Given the description of an element on the screen output the (x, y) to click on. 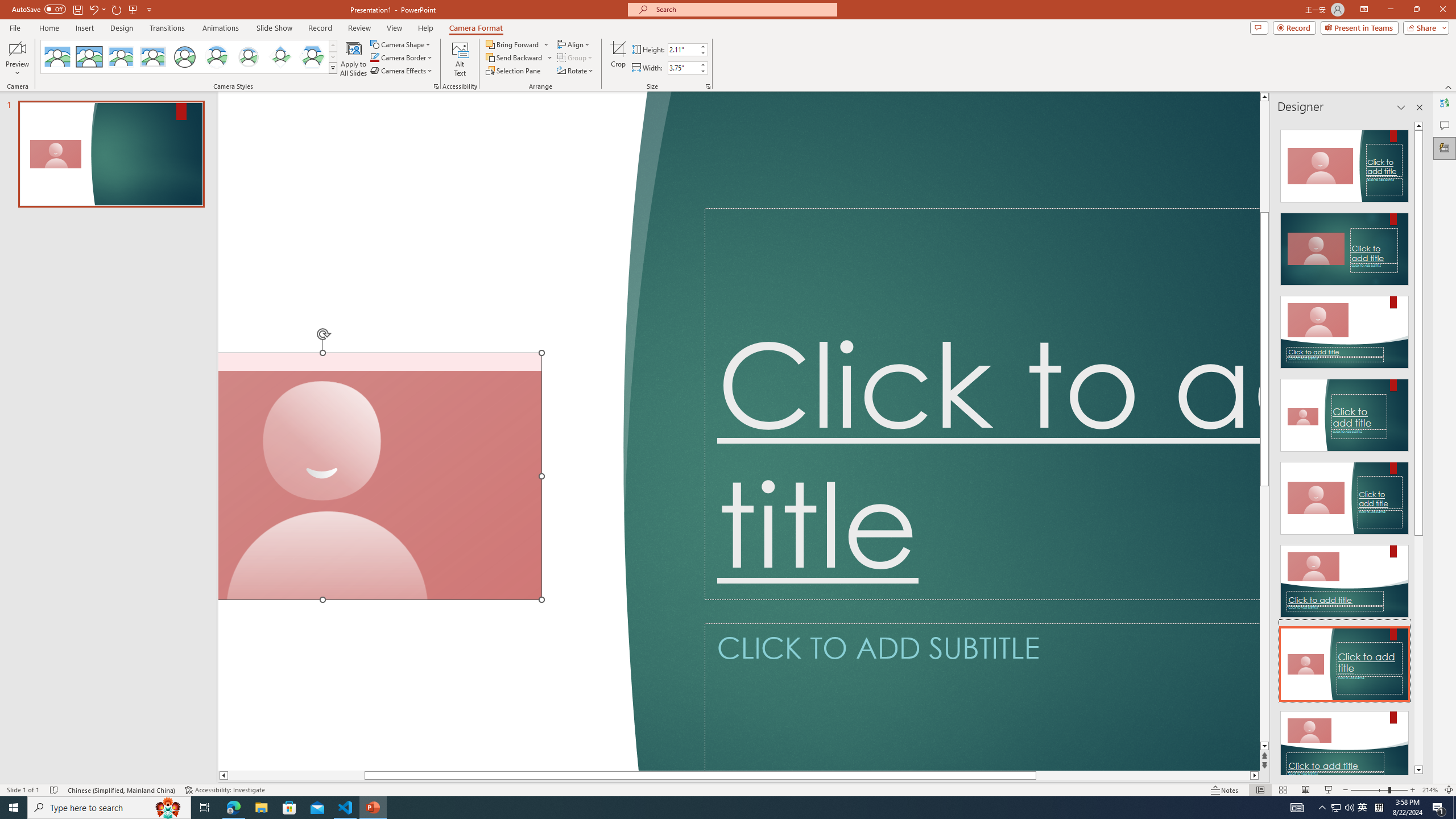
Center Shadow Rectangle (120, 56)
Subtitle TextBox (981, 696)
Send Backward (518, 56)
More (702, 64)
Group (575, 56)
